Given the description of an element on the screen output the (x, y) to click on. 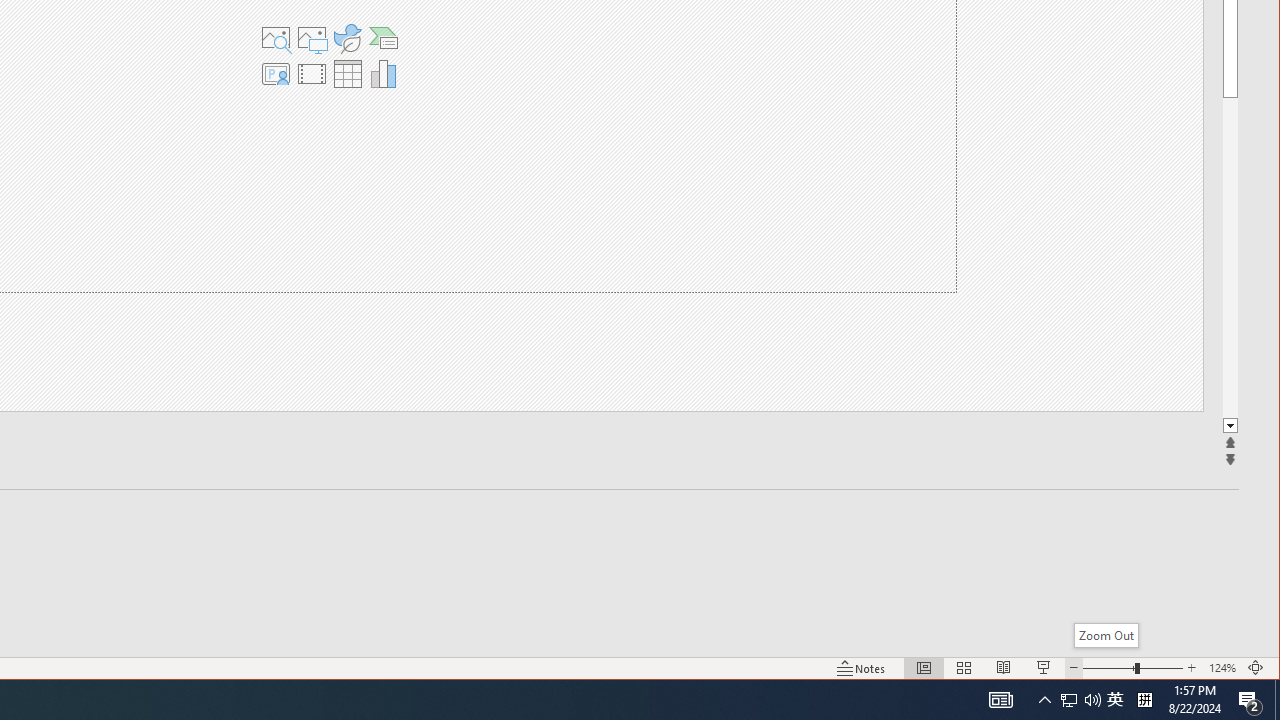
Insert Table (347, 74)
Insert Video (311, 74)
